Given the description of an element on the screen output the (x, y) to click on. 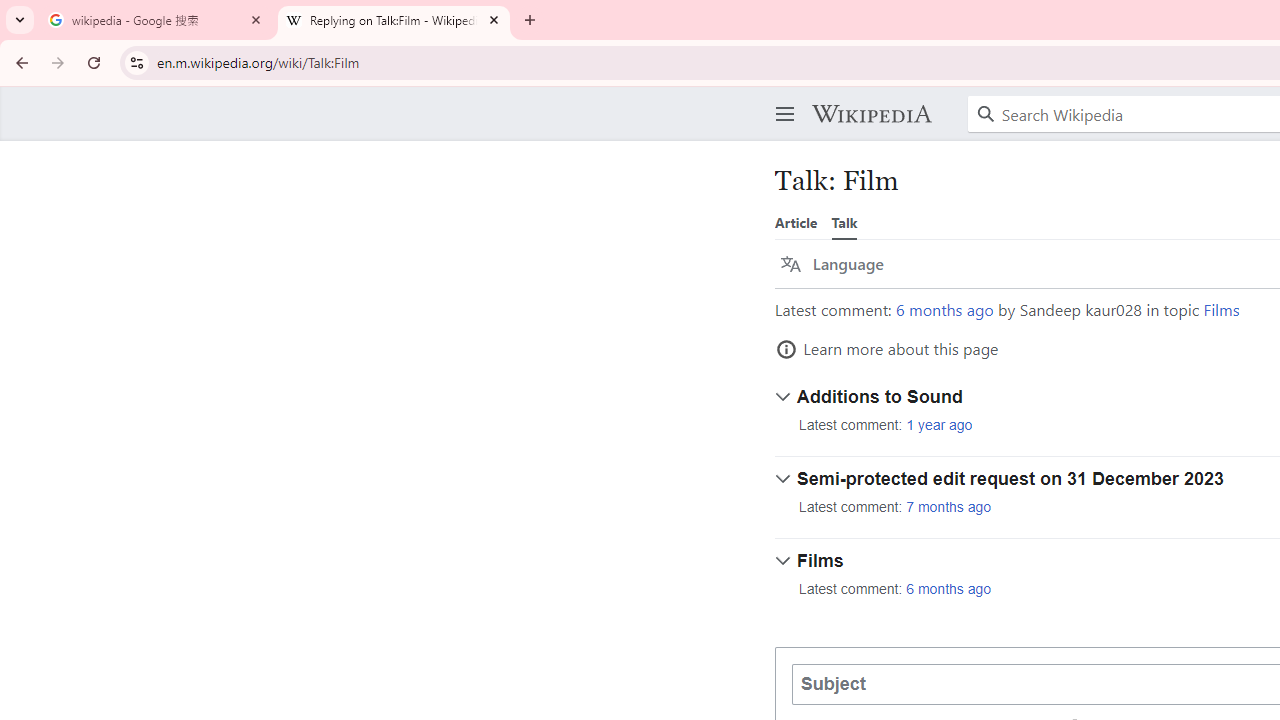
Talk (843, 222)
Wikipedia (871, 114)
Article (795, 222)
Language (832, 264)
1 year ago (939, 425)
